Given the description of an element on the screen output the (x, y) to click on. 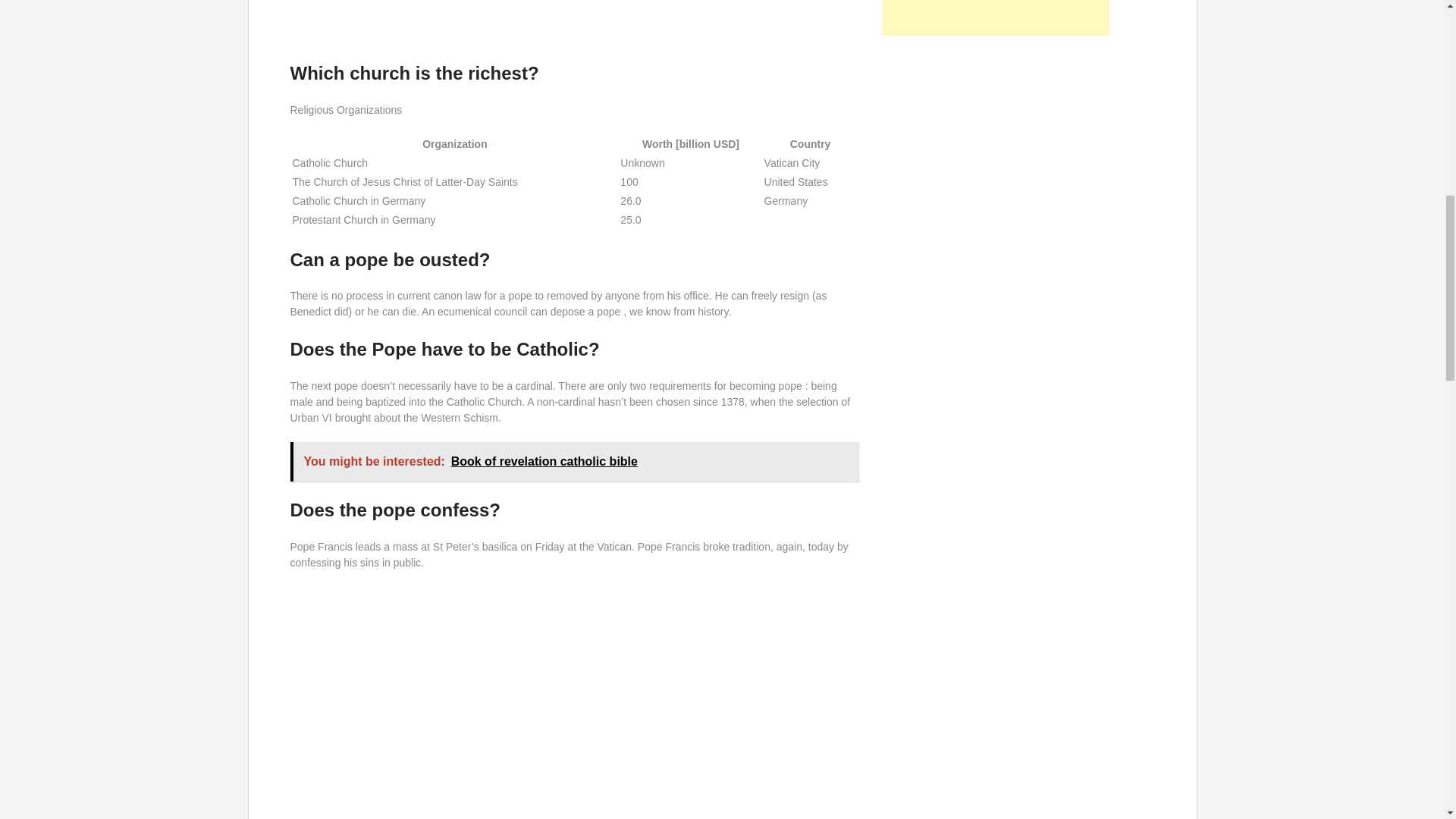
You might be interested:  Book of revelation catholic bible (574, 461)
